Given the description of an element on the screen output the (x, y) to click on. 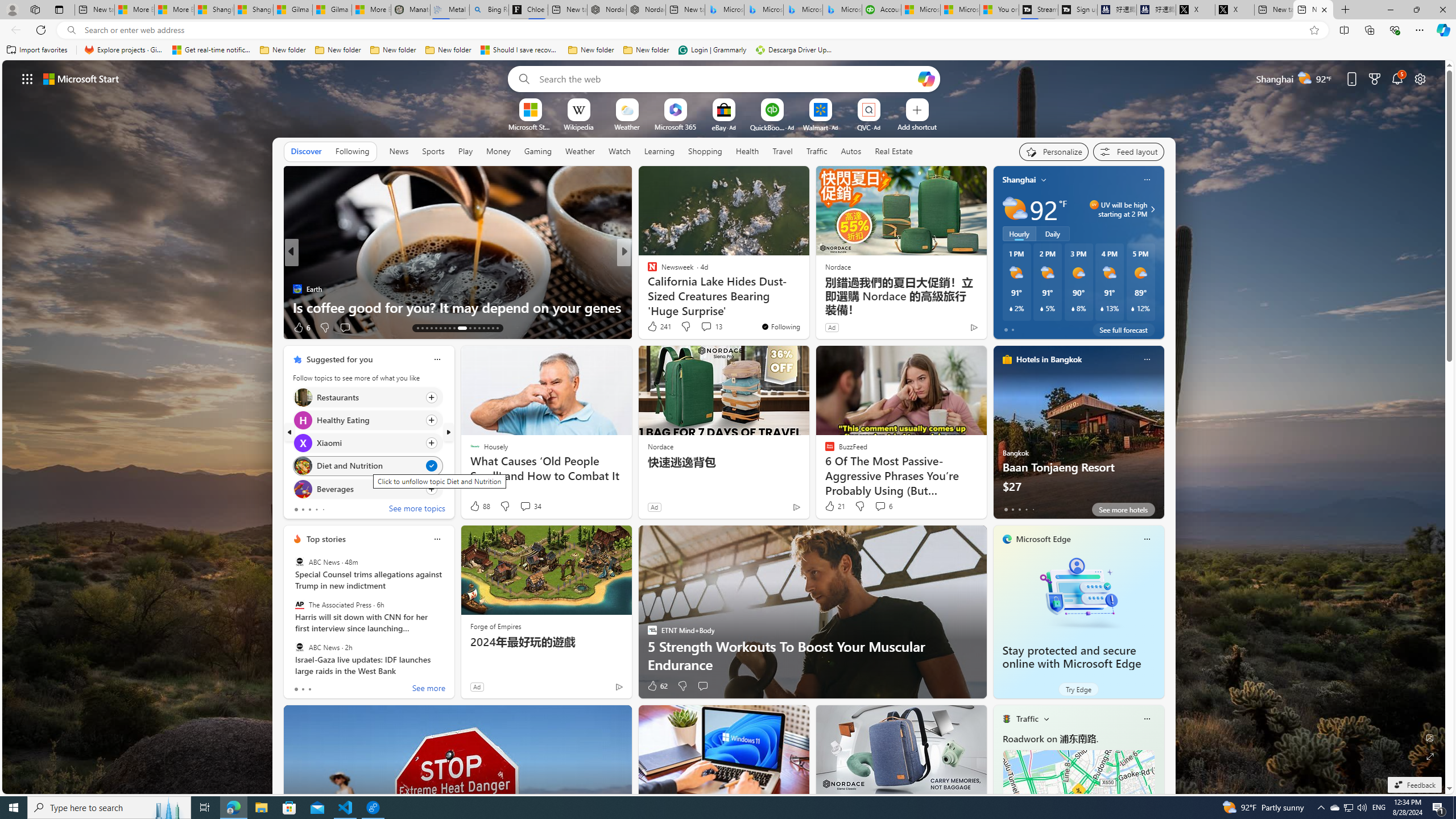
Shopping (705, 151)
Start the conversation (703, 685)
AutomationID: tab-29 (497, 328)
Real Estate (893, 151)
Start the conversation (702, 685)
Diet and Nutrition (302, 466)
Restaurants (302, 397)
Microsoft Bing Travel - Stays in Bangkok, Bangkok, Thailand (763, 9)
Close tab (1324, 9)
You're following Newsweek (780, 326)
Partly sunny (1014, 208)
Change scenarios (1045, 718)
88 Like (479, 505)
AutomationID: tab-20 (449, 328)
